Given the description of an element on the screen output the (x, y) to click on. 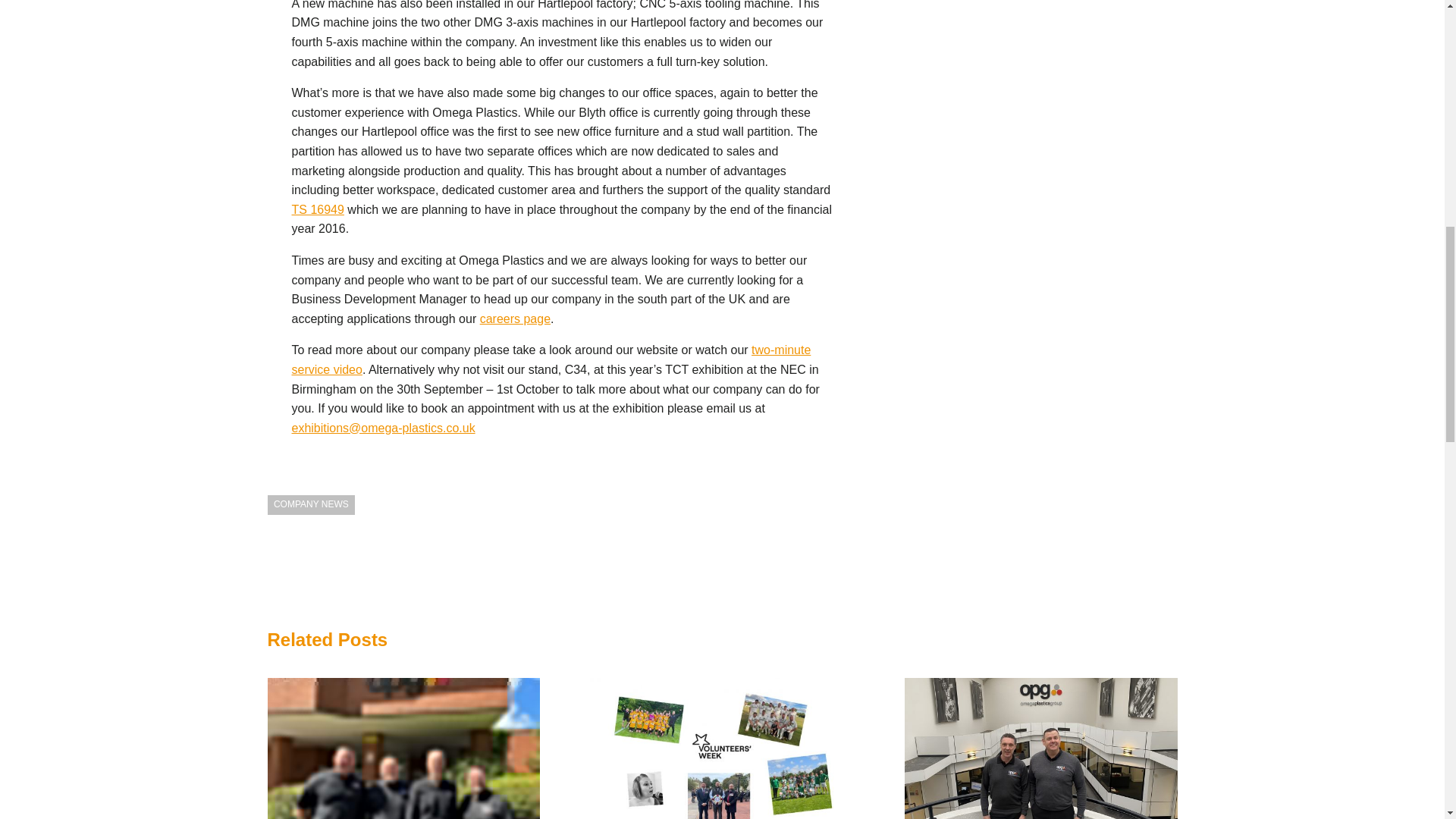
Read the post 'Celebrating Volunteers Week' (722, 748)
Careers (515, 318)
Services Video (550, 359)
COMPANY NEWS (310, 505)
careers page (515, 318)
Automotive Quality Management (317, 209)
two-minute service video (550, 359)
TS 16949 (317, 209)
Read the post 'Welcoming Our New Head of QHSE' (1040, 748)
